Given the description of an element on the screen output the (x, y) to click on. 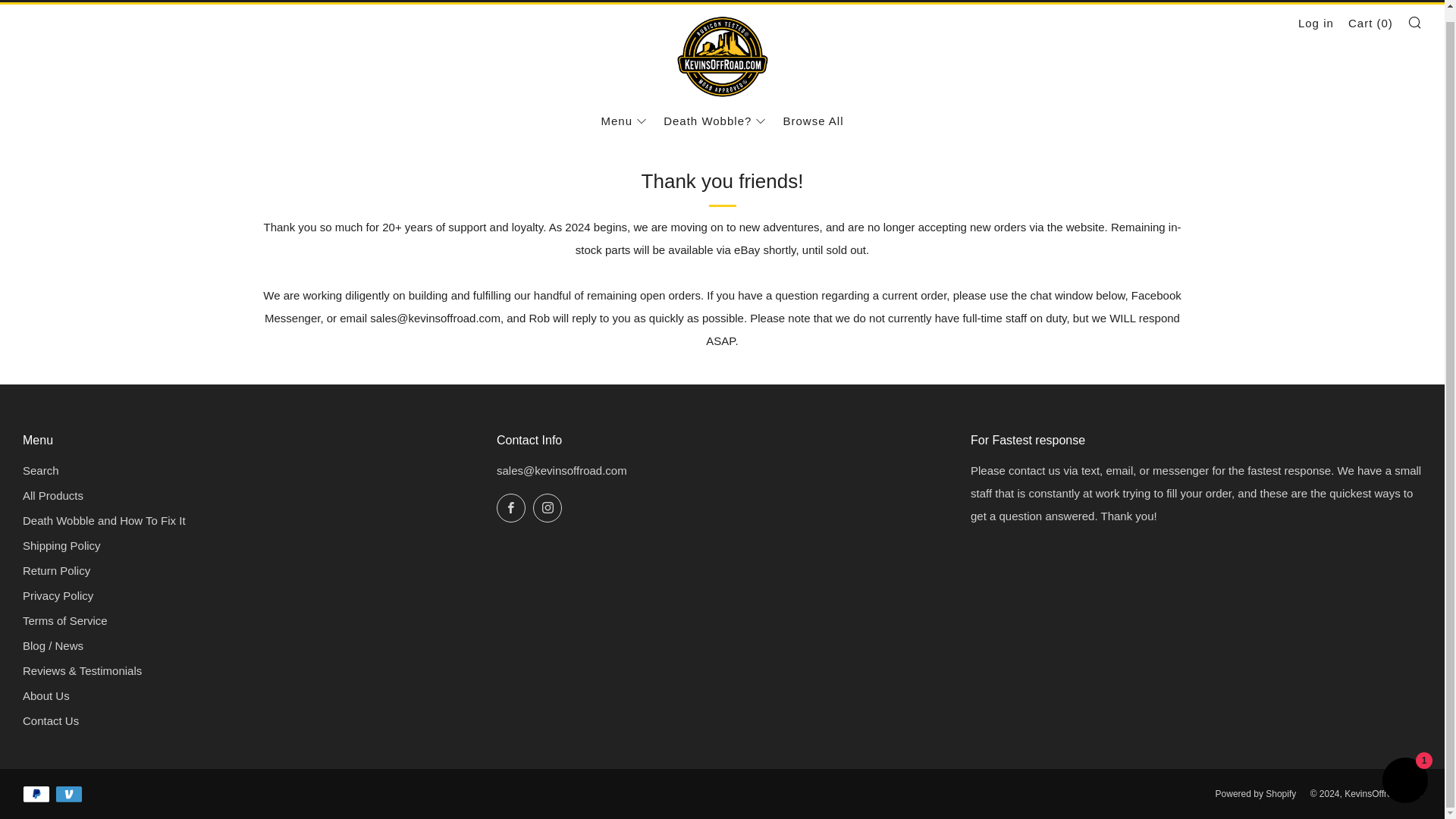
Powered by Shopify (1256, 793)
Search (1414, 21)
Instagram (547, 507)
Menu (622, 120)
About Us (46, 695)
Browse All (813, 120)
Death Wobble and How To Fix It (104, 520)
Search (41, 470)
Death Wobble? (714, 120)
Shopify online store chat (1404, 770)
Return Policy (56, 570)
Facebook (510, 507)
Contact Us (50, 720)
Privacy Policy (58, 594)
Terms of Service (65, 620)
